Given the description of an element on the screen output the (x, y) to click on. 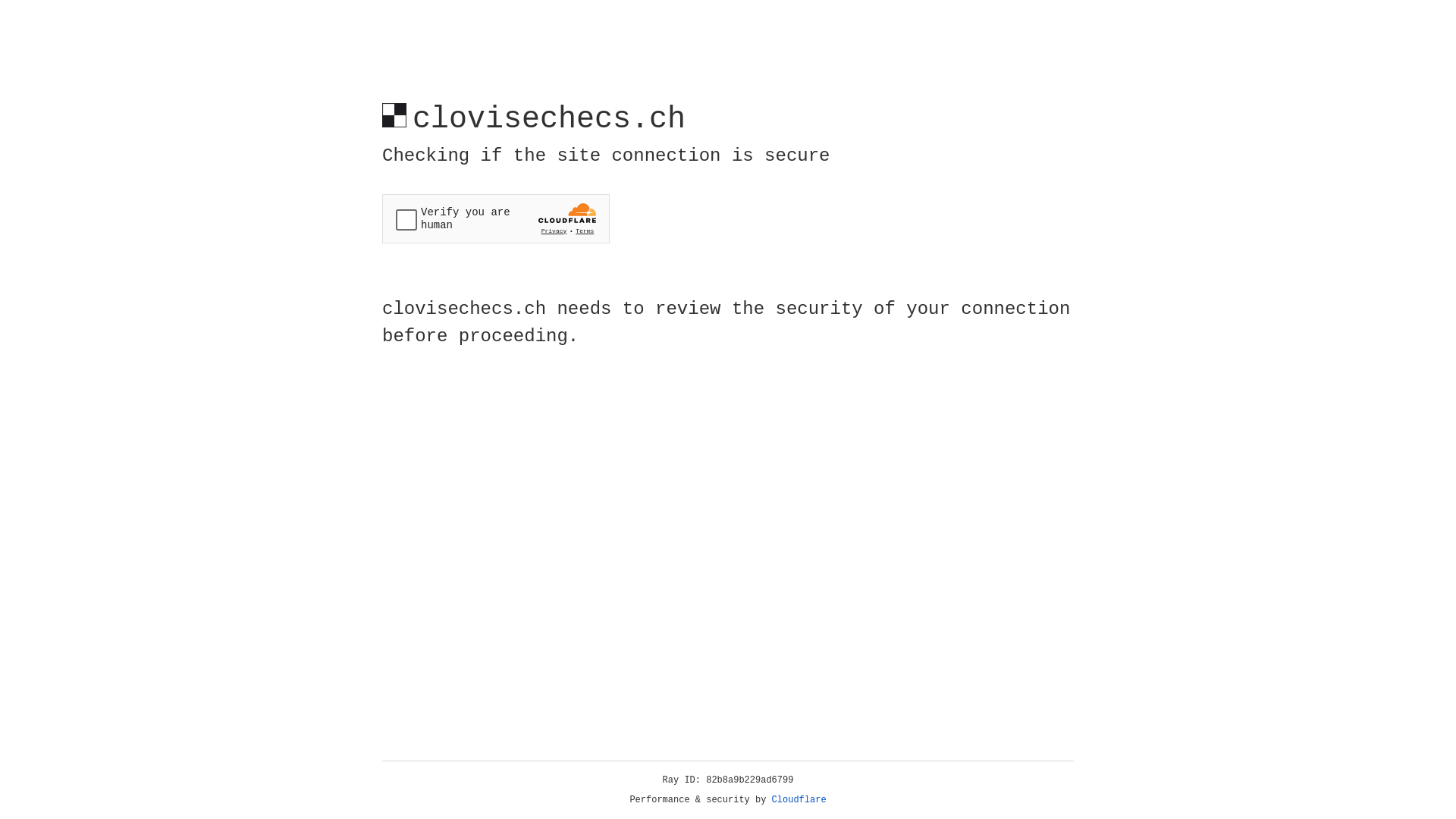
Widget containing a Cloudflare security challenge Element type: hover (495, 218)
Cloudflare Element type: text (798, 799)
